Given the description of an element on the screen output the (x, y) to click on. 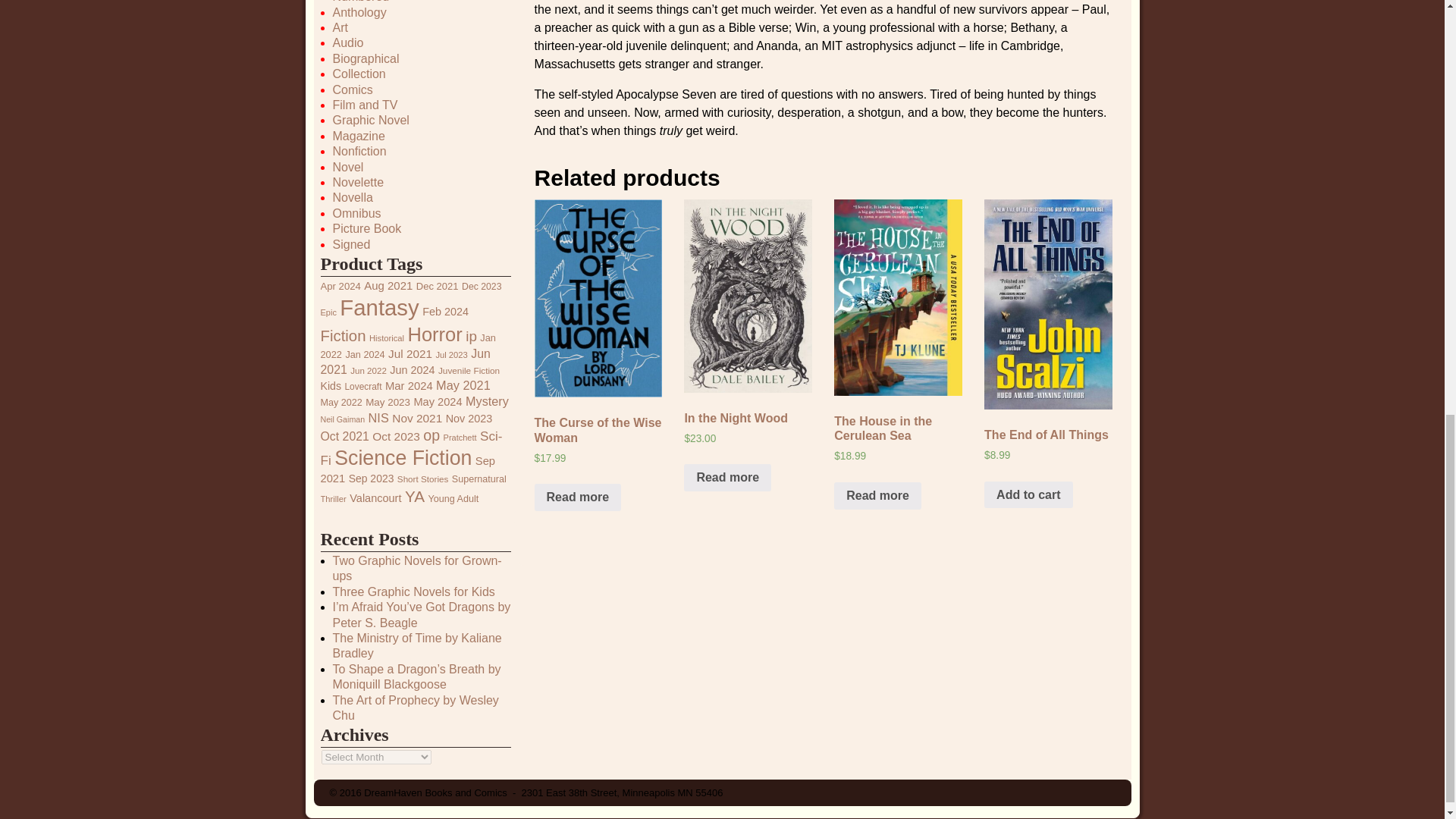
Read more (727, 477)
Read more (577, 497)
Read more (877, 495)
Add to cart (1027, 494)
